Given the description of an element on the screen output the (x, y) to click on. 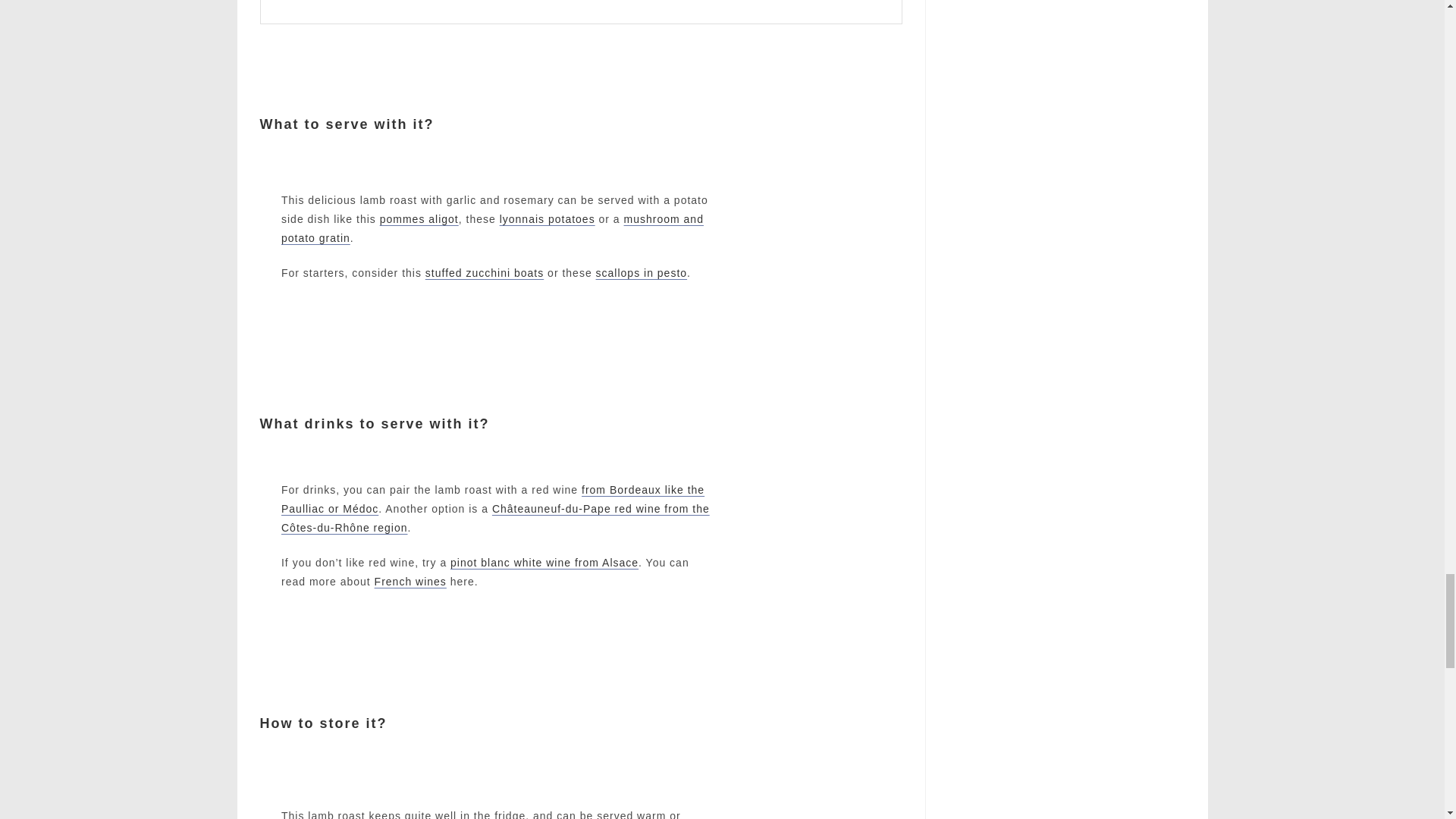
Lamb roast with garlic and rosemary 15 (836, 533)
Lamb roast with garlic and rosemary 14 (836, 235)
